Given the description of an element on the screen output the (x, y) to click on. 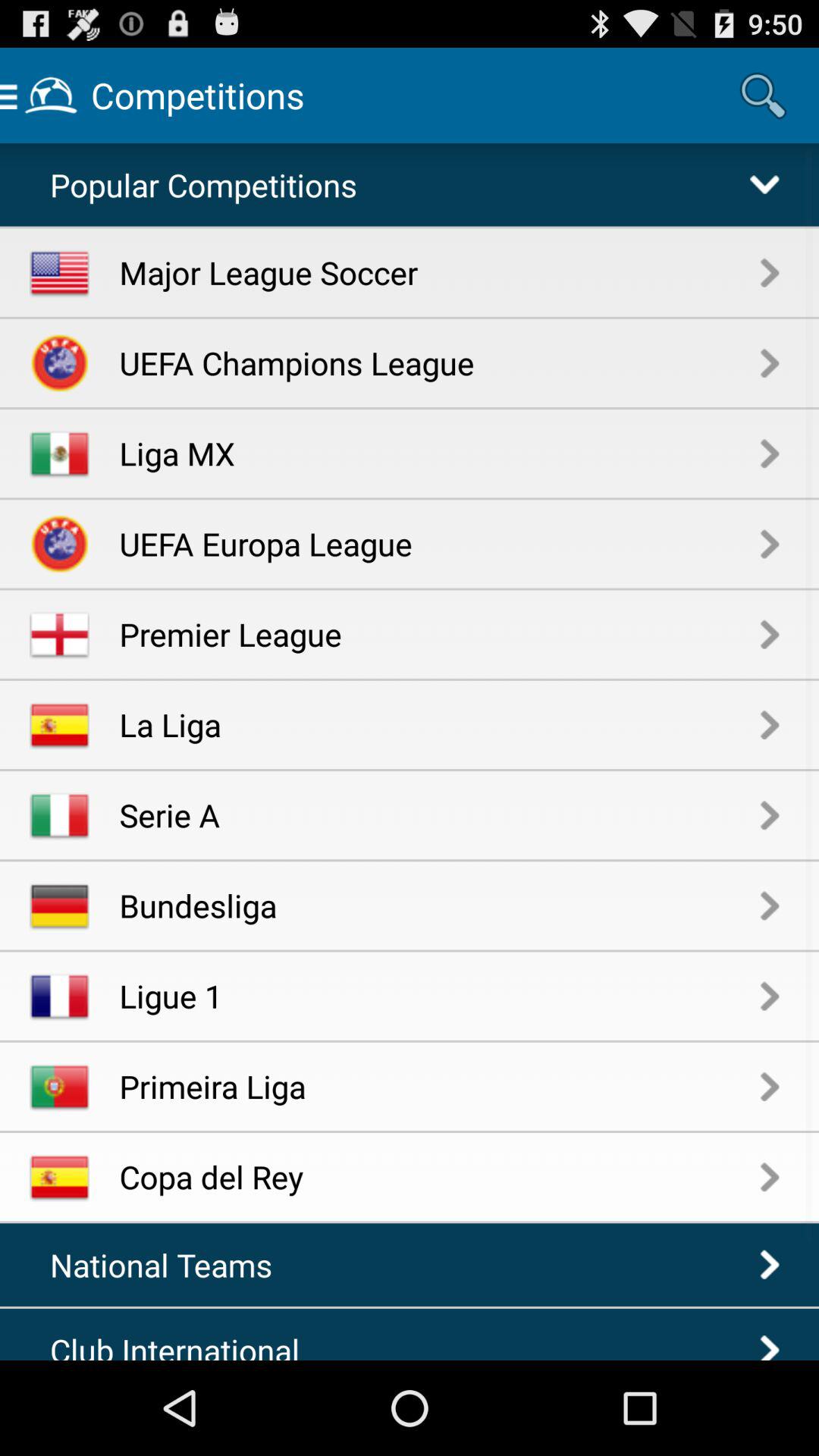
turn off app below the uefa champions league icon (439, 452)
